Given the description of an element on the screen output the (x, y) to click on. 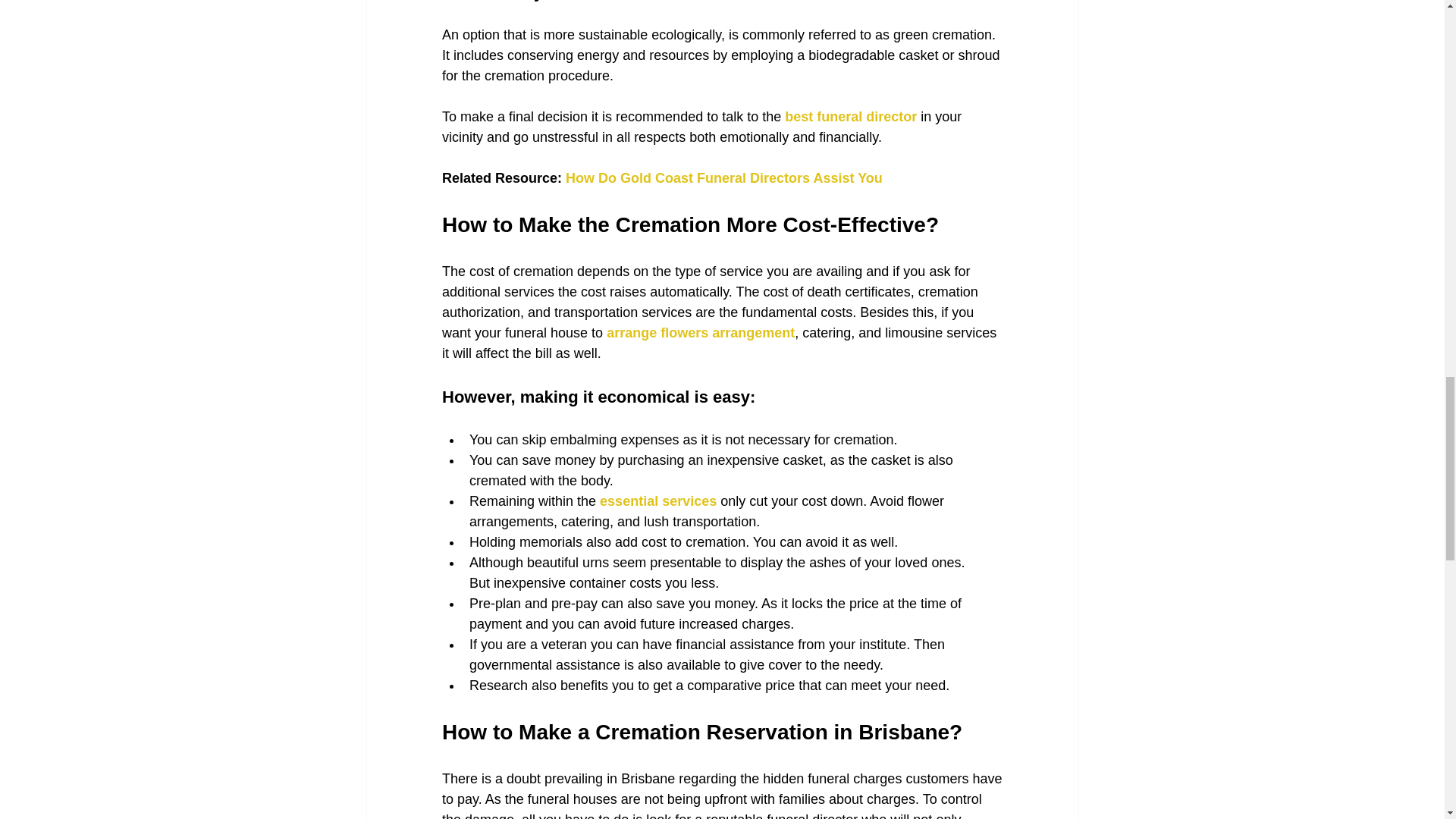
best funeral director (850, 116)
essential services (657, 500)
arrange flowers arrangement (700, 332)
How Do Gold Coast Funeral Directors Assist You (724, 177)
